Given the description of an element on the screen output the (x, y) to click on. 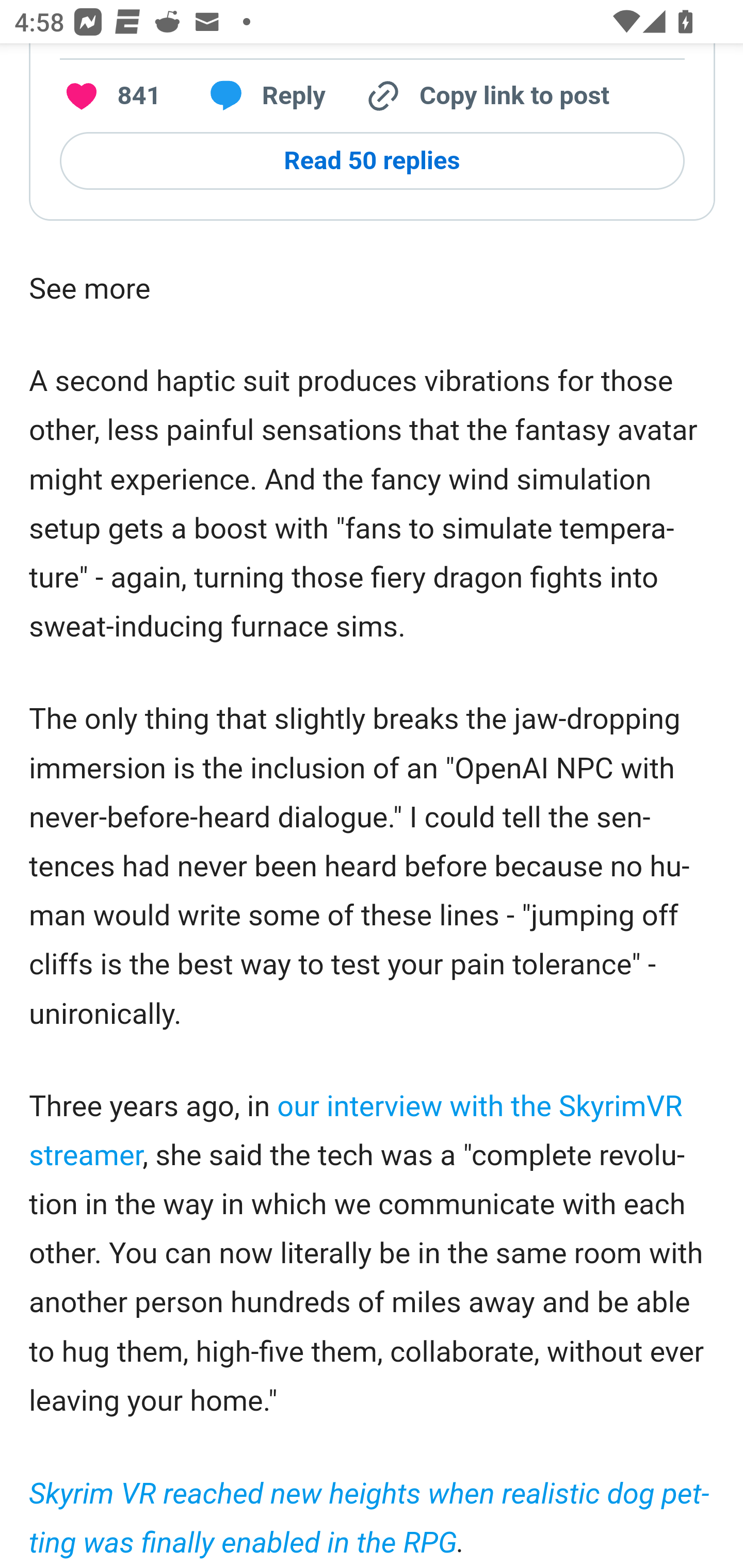
Like. This post has 841 likes 841 (109, 96)
Reply to this post on X Reply (260, 96)
Copy link to post (485, 96)
Read 50 replies (371, 161)
our interview with the SkyrimVR streamer (356, 1131)
